Given the description of an element on the screen output the (x, y) to click on. 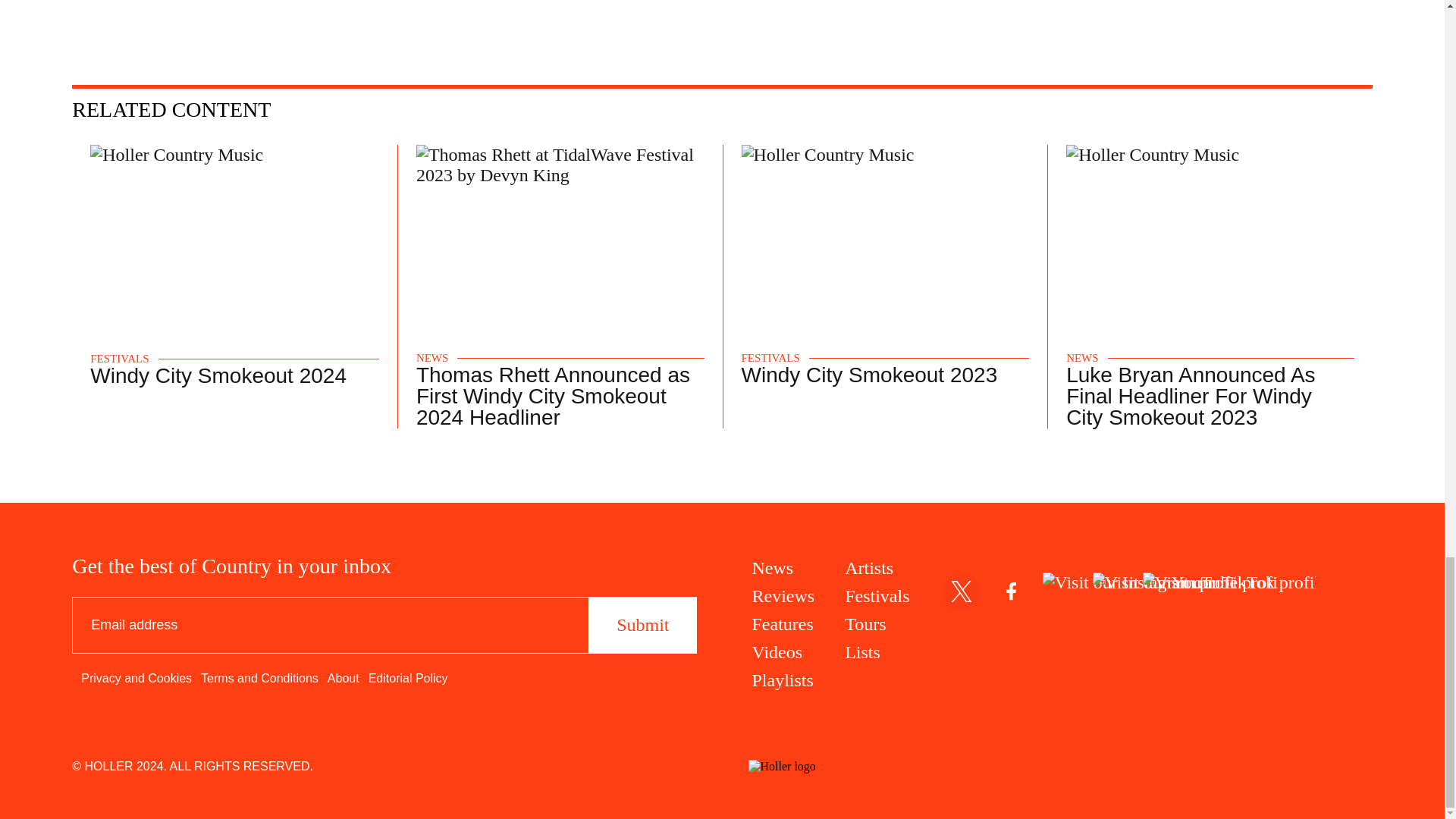
Submit (642, 625)
About (343, 678)
NEWS (432, 358)
News (783, 567)
Editorial Policy (408, 678)
FESTIVALS (119, 358)
Terms and Conditions (259, 678)
NEWS (1082, 358)
FESTIVALS (770, 358)
